Given the description of an element on the screen output the (x, y) to click on. 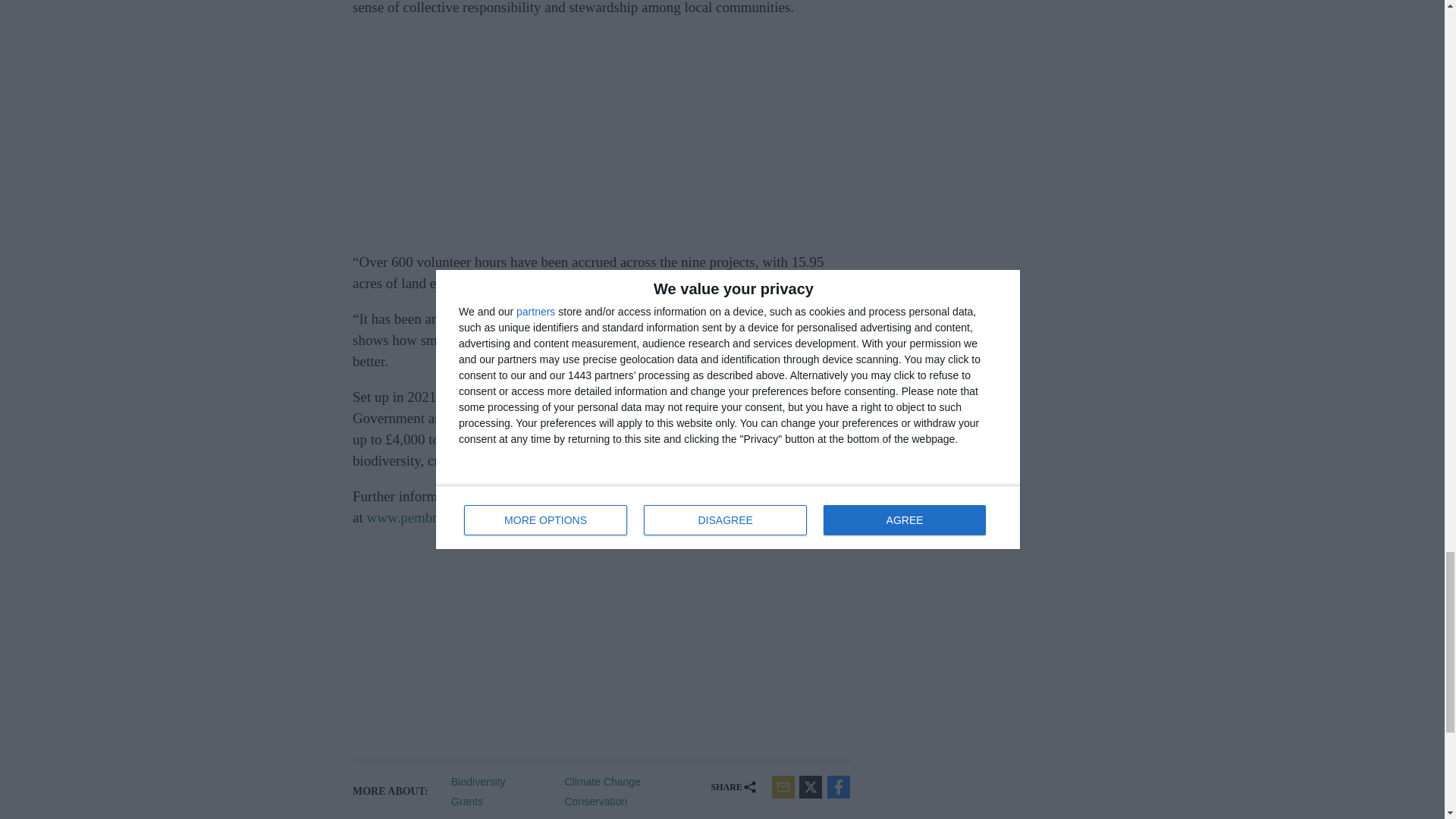
www.pembrokeshirecoasttrust.org.uk (473, 517)
Grants (502, 801)
Climate Change (615, 781)
Biodiversity (502, 781)
